Given the description of an element on the screen output the (x, y) to click on. 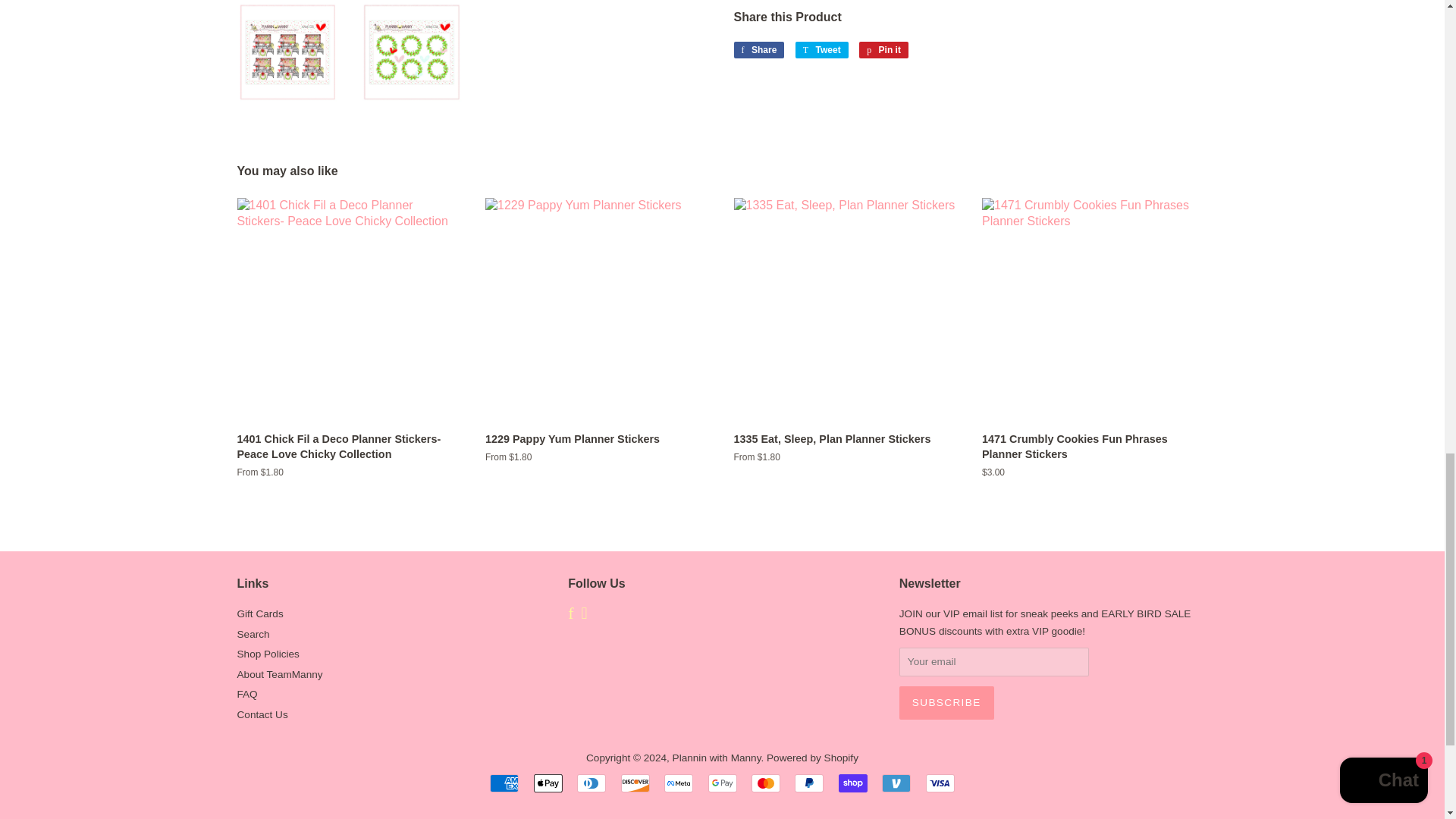
American Express (503, 782)
Tweet on Twitter (821, 49)
Diners Club (590, 782)
Shop Pay (852, 782)
Google Pay (721, 782)
Meta Pay (678, 782)
Share on Facebook (758, 49)
PayPal (809, 782)
Venmo (896, 782)
Mastercard (765, 782)
Visa (940, 782)
Subscribe (946, 702)
Discover (635, 782)
Apple Pay (548, 782)
Pin on Pinterest (883, 49)
